Given the description of an element on the screen output the (x, y) to click on. 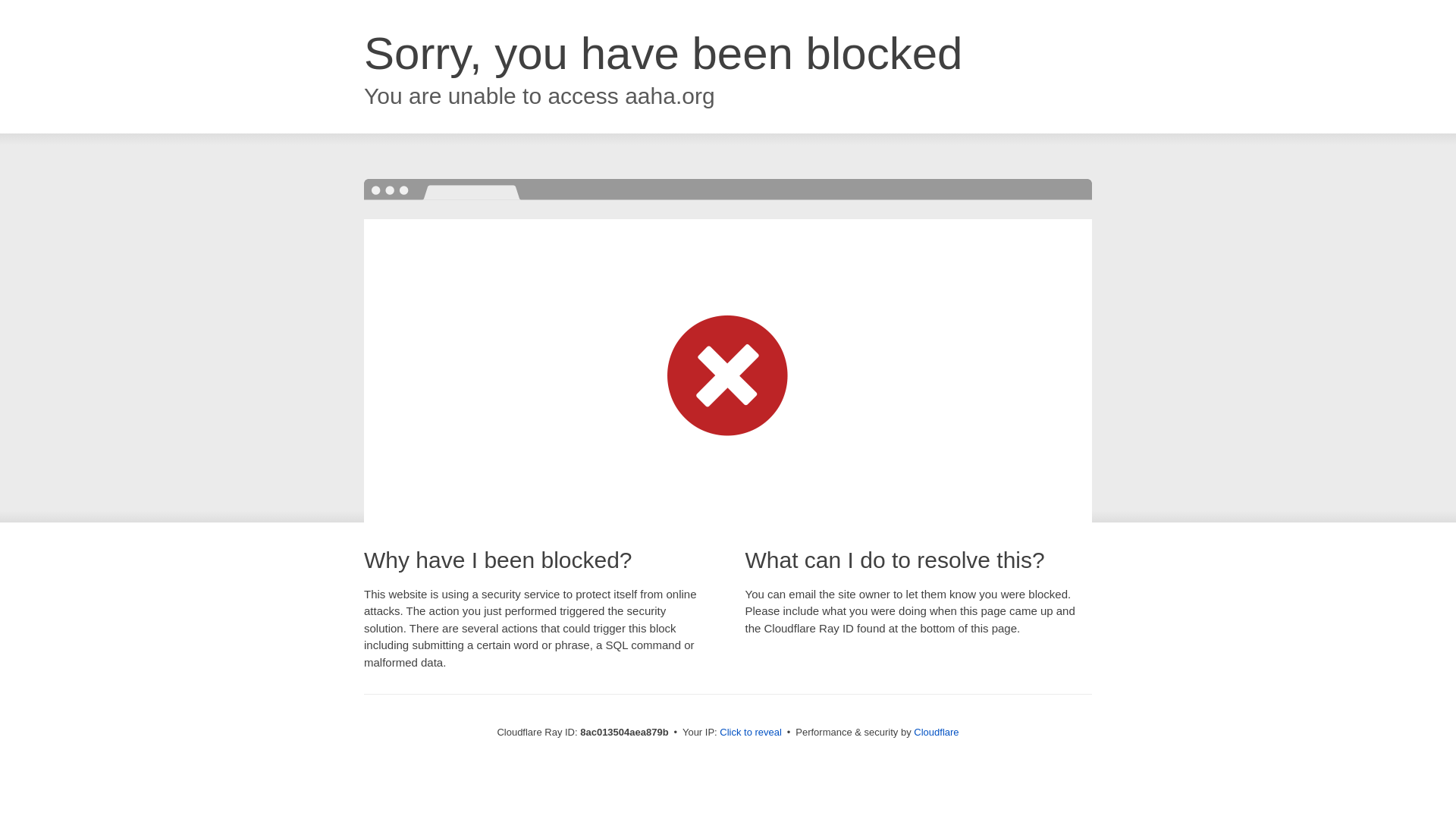
Click to reveal (750, 732)
Cloudflare (936, 731)
